Given the description of an element on the screen output the (x, y) to click on. 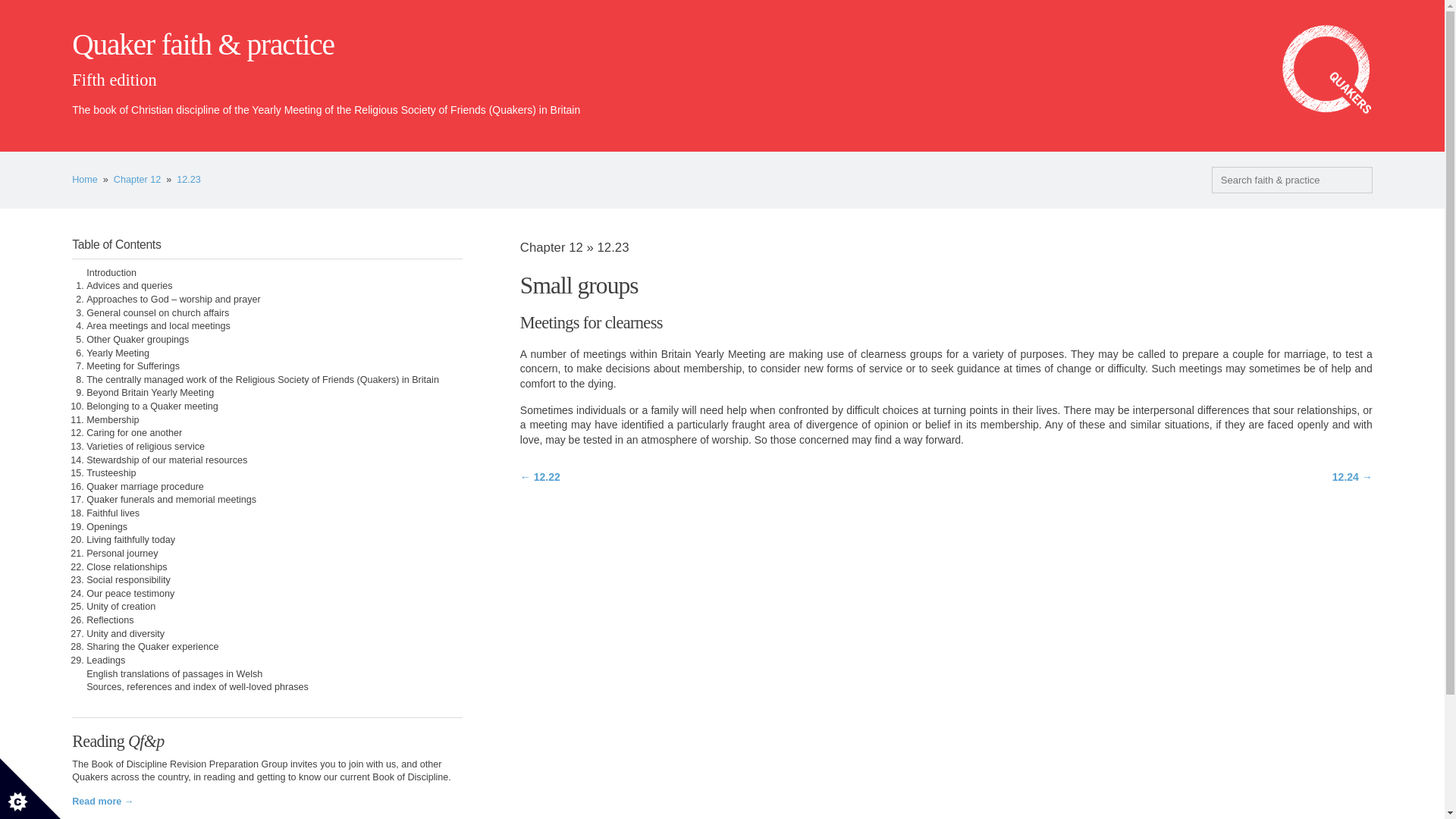
Advices and queries (128, 285)
Meeting for Sufferings (132, 366)
Close relationships (126, 566)
Living faithfully today (129, 539)
Beyond Britain Yearly Meeting (149, 392)
Quaker funerals and memorial meetings (170, 499)
Search (24, 9)
Faithful lives (112, 512)
Home (84, 179)
Trusteeship (110, 472)
Cookie Control Icon (30, 788)
Social responsibility (127, 579)
www.quaker.org.uk (1327, 69)
Our peace testimony (129, 593)
quaker.org.uk (1327, 69)
